Given the description of an element on the screen output the (x, y) to click on. 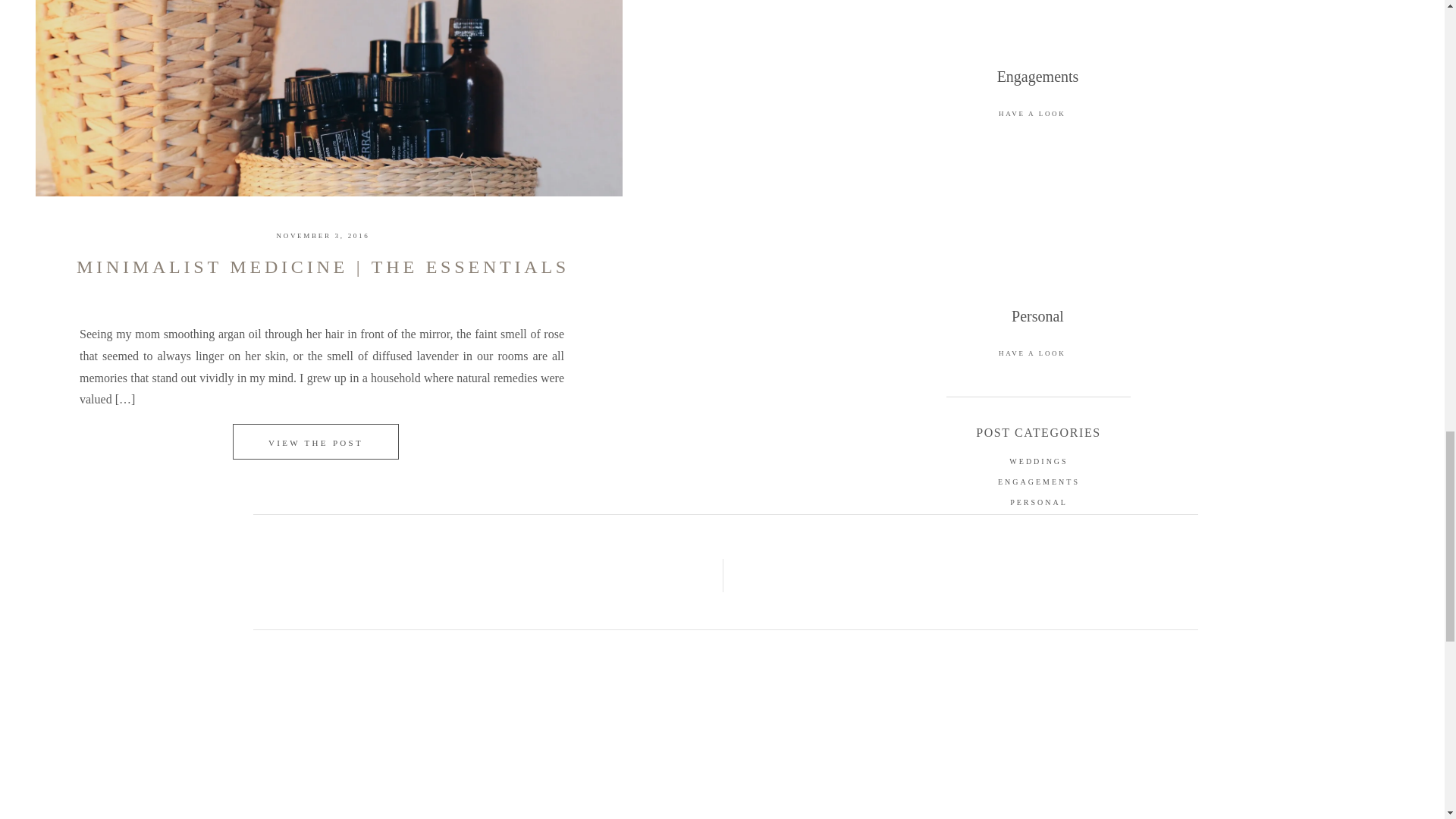
PERSONAL (1038, 503)
WEDDINGS (1038, 460)
Engagements (1037, 84)
ENGAGEMENTS (1038, 482)
